Given the description of an element on the screen output the (x, y) to click on. 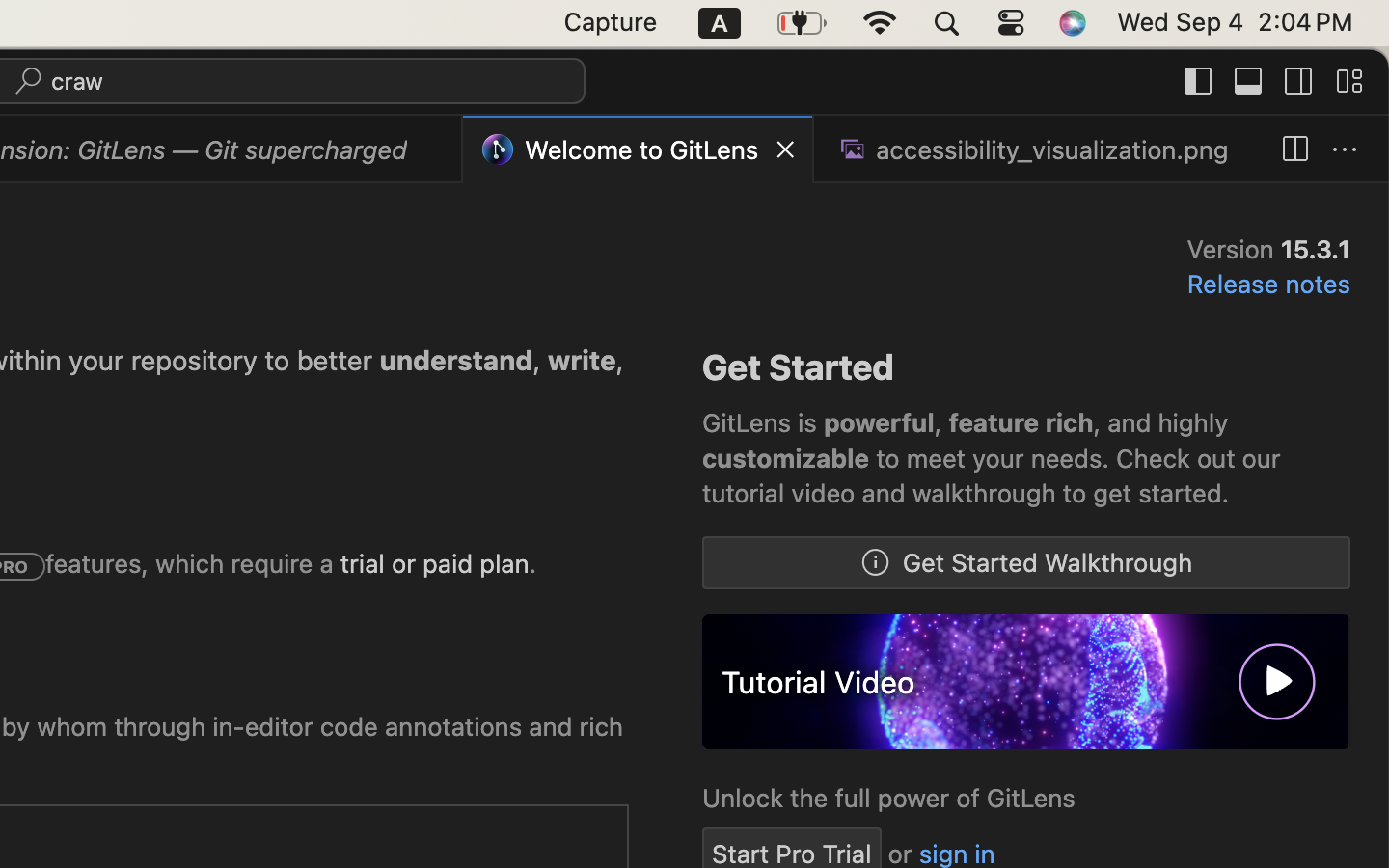
write Element type: AXStaticText (582, 360)
 Element type: AXButton (433, 150)
 Element type: AXStaticText (1344, 150)
 Element type: AXButton (1349, 80)
Version Element type: AXStaticText (1233, 248)
